Given the description of an element on the screen output the (x, y) to click on. 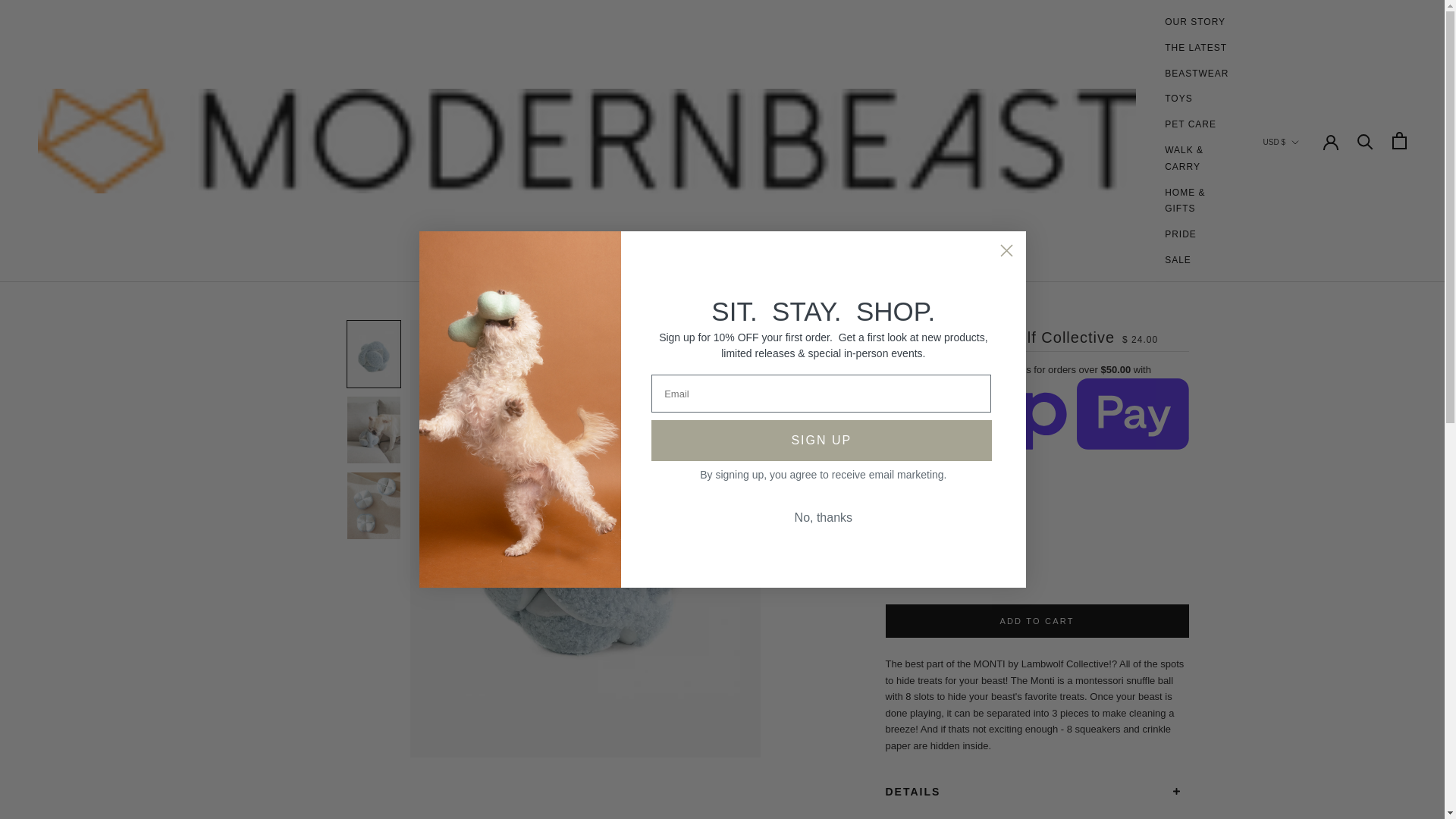
1 (938, 569)
